Given the description of an element on the screen output the (x, y) to click on. 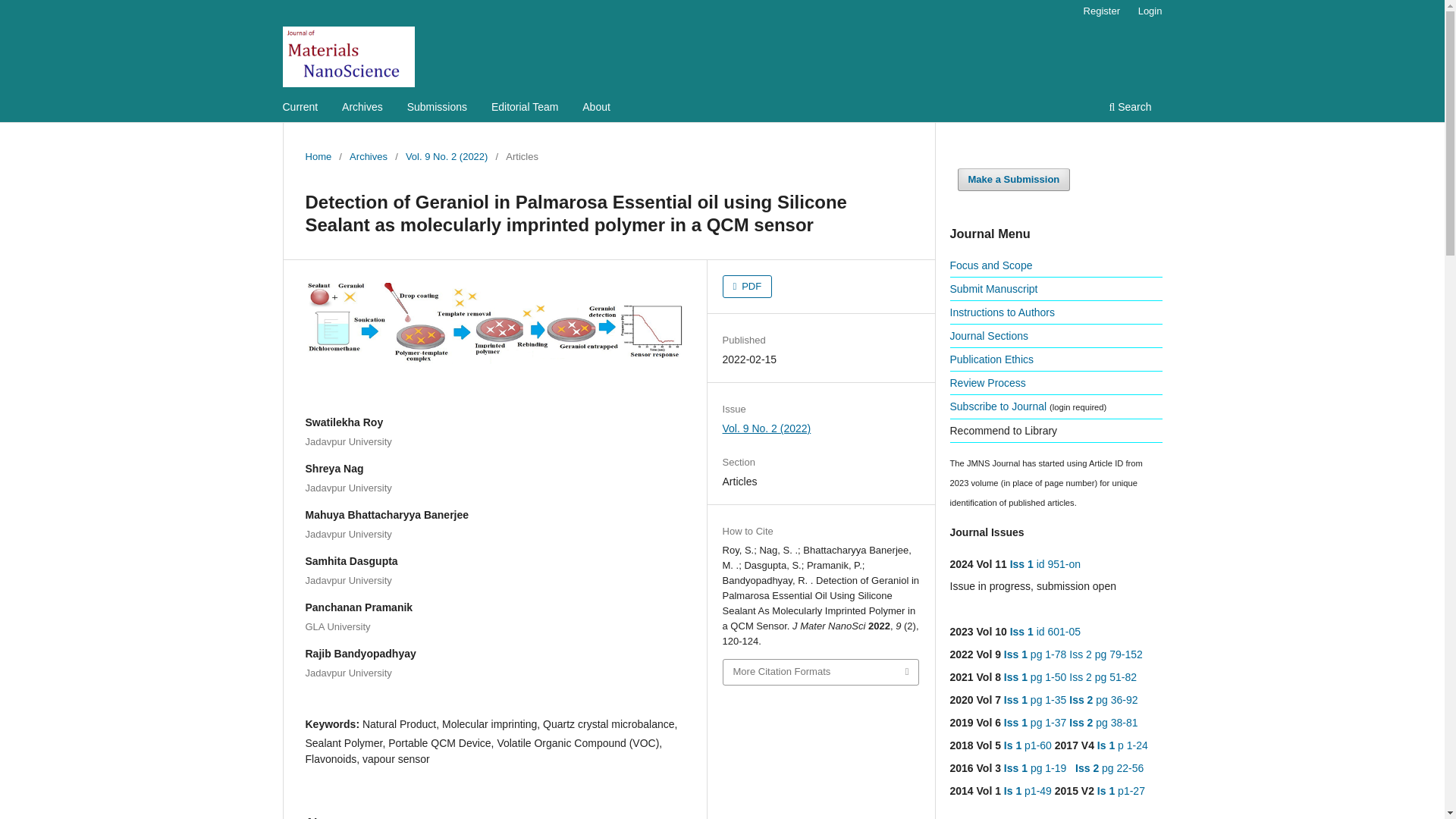
JMNS 2019 Volume 6 Issue 2 contents (1102, 722)
Register (1100, 11)
Submissions (436, 108)
JMNS 2023 Volume 10 Issue 1 contents (1045, 631)
JMNS 2018 Volume 5 Issue 1 contents (1027, 745)
JMNS 2024 Volume 11 Issue 1 contents (1045, 563)
JMNS 2022 Volume 9 Issue 2 contents (1105, 654)
2016 Volume 3 Issue 1 Contents (1036, 767)
JMNS 2014 Volume 1 Issue 1 contents (1027, 790)
JMNS 2021 Volume 8 Issue 2 contents (1102, 676)
JMNS 2022 Volume 9 Issue 1 contents (1035, 654)
About (595, 108)
2017 Volume 4 Issue 1 contents (1122, 745)
2015 Volume 2 Issue 1 contents (1120, 790)
JMNS 2020 Volume 7 Issue 2 contents (1102, 699)
